Given the description of an element on the screen output the (x, y) to click on. 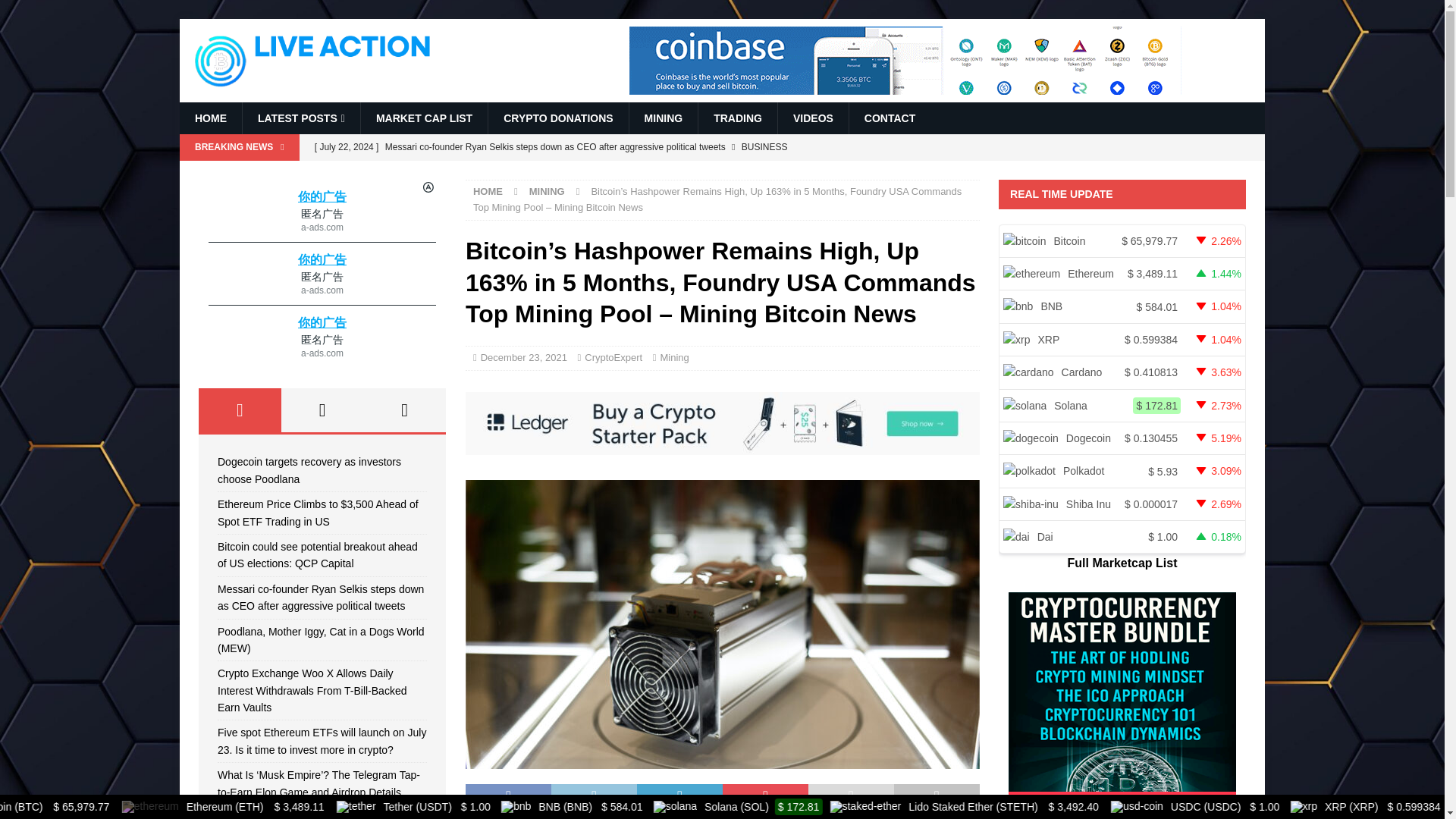
HOME (210, 118)
LATEST POSTS (300, 118)
